Given the description of an element on the screen output the (x, y) to click on. 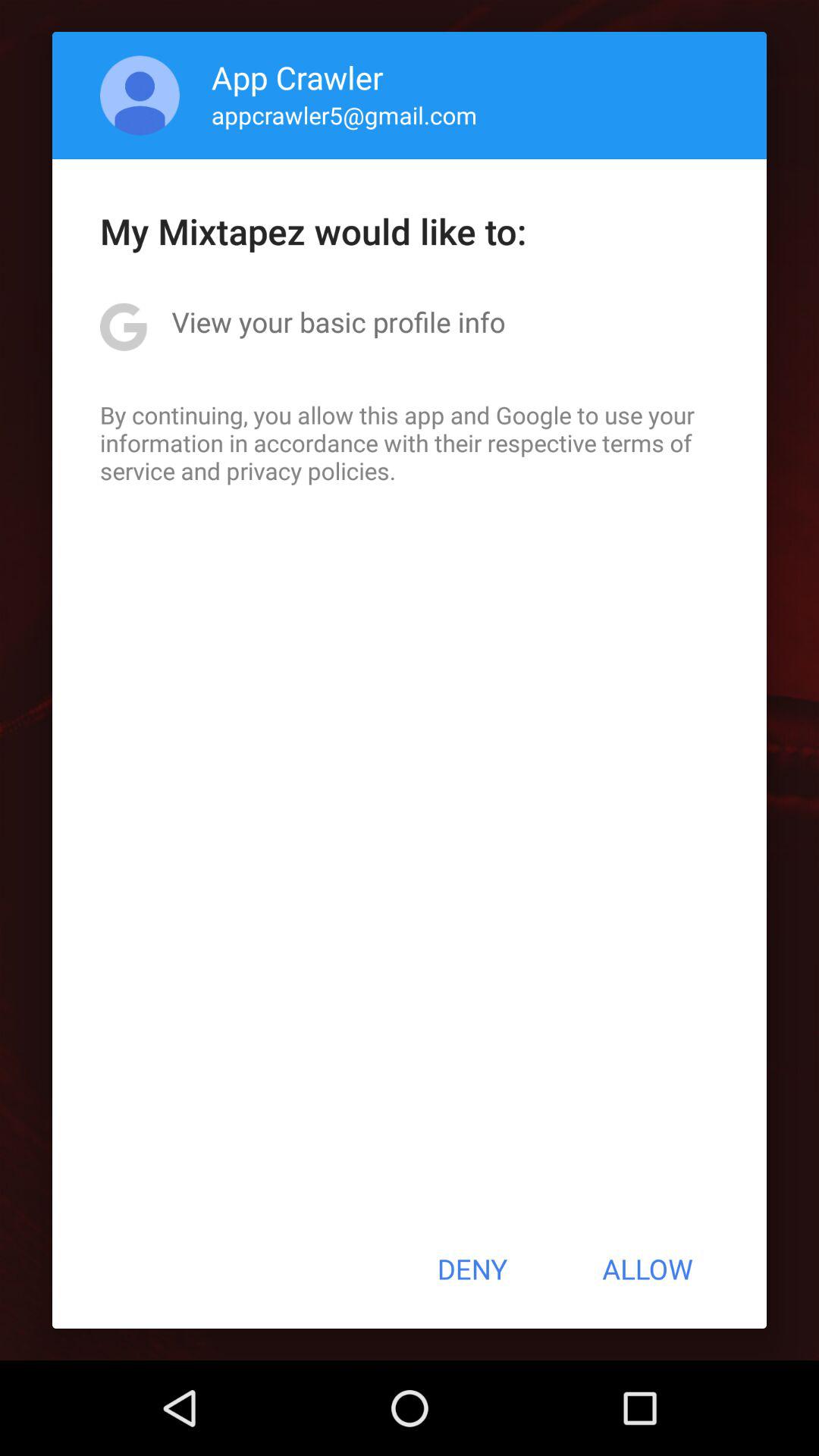
choose the app crawler app (297, 76)
